Given the description of an element on the screen output the (x, y) to click on. 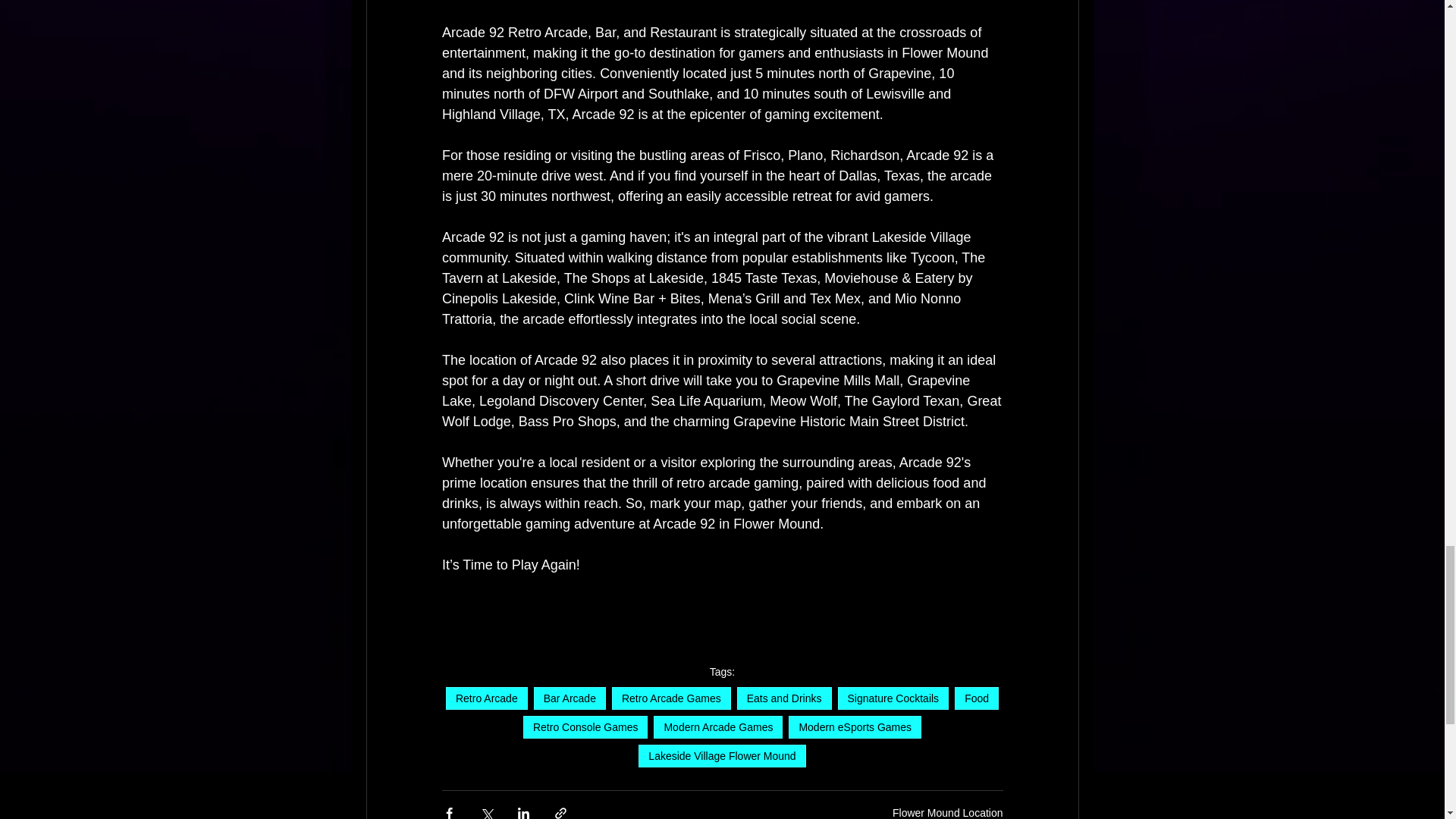
Modern eSports Games (855, 726)
Food (976, 698)
Flower Mound Location (947, 812)
Retro Console Games (584, 726)
Lakeside Village Flower Mound (722, 755)
Eats and Drinks (783, 698)
Modern Arcade Games (718, 726)
Bar Arcade (569, 698)
Retro Arcade (486, 698)
Signature Cocktails (893, 698)
Retro Arcade Games (670, 698)
